Given the description of an element on the screen output the (x, y) to click on. 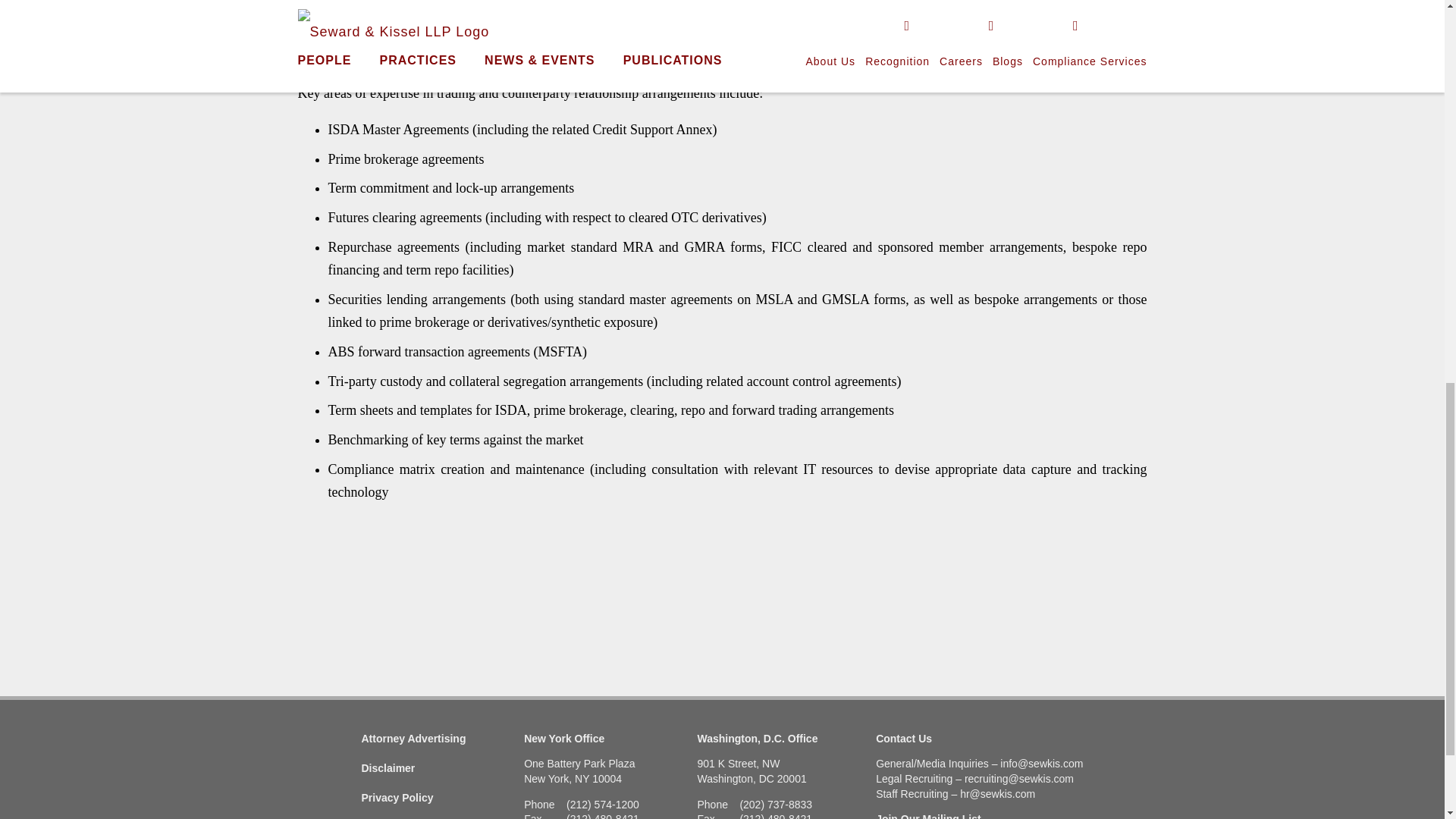
Privacy Policy (396, 797)
Washington, D.C. Office (757, 738)
New York Office (564, 738)
Disclaimer (387, 767)
Attorney Advertising (413, 738)
Join Our Mailing List (927, 816)
